Given the description of an element on the screen output the (x, y) to click on. 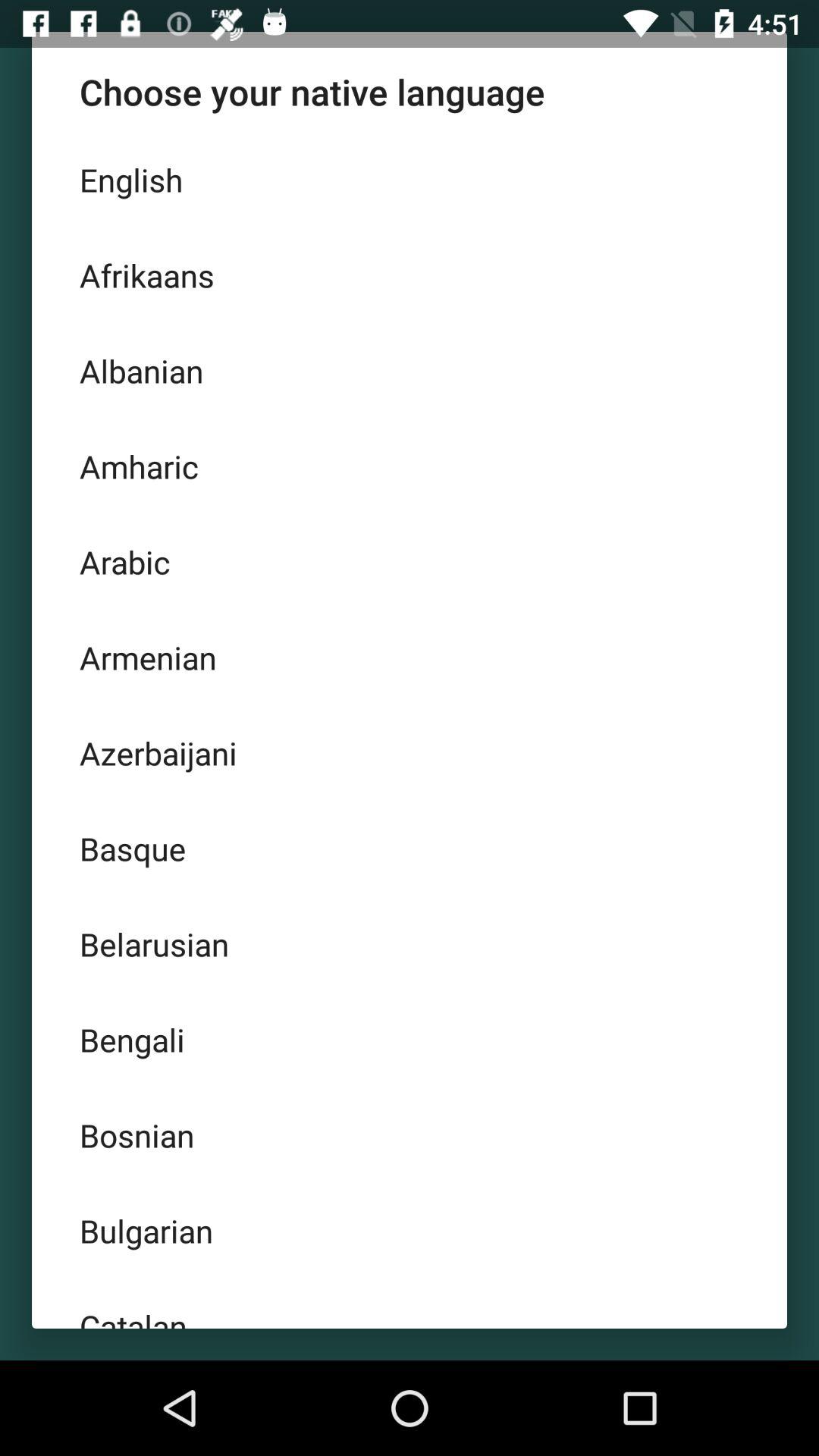
click item below the belarusian (409, 1039)
